Given the description of an element on the screen output the (x, y) to click on. 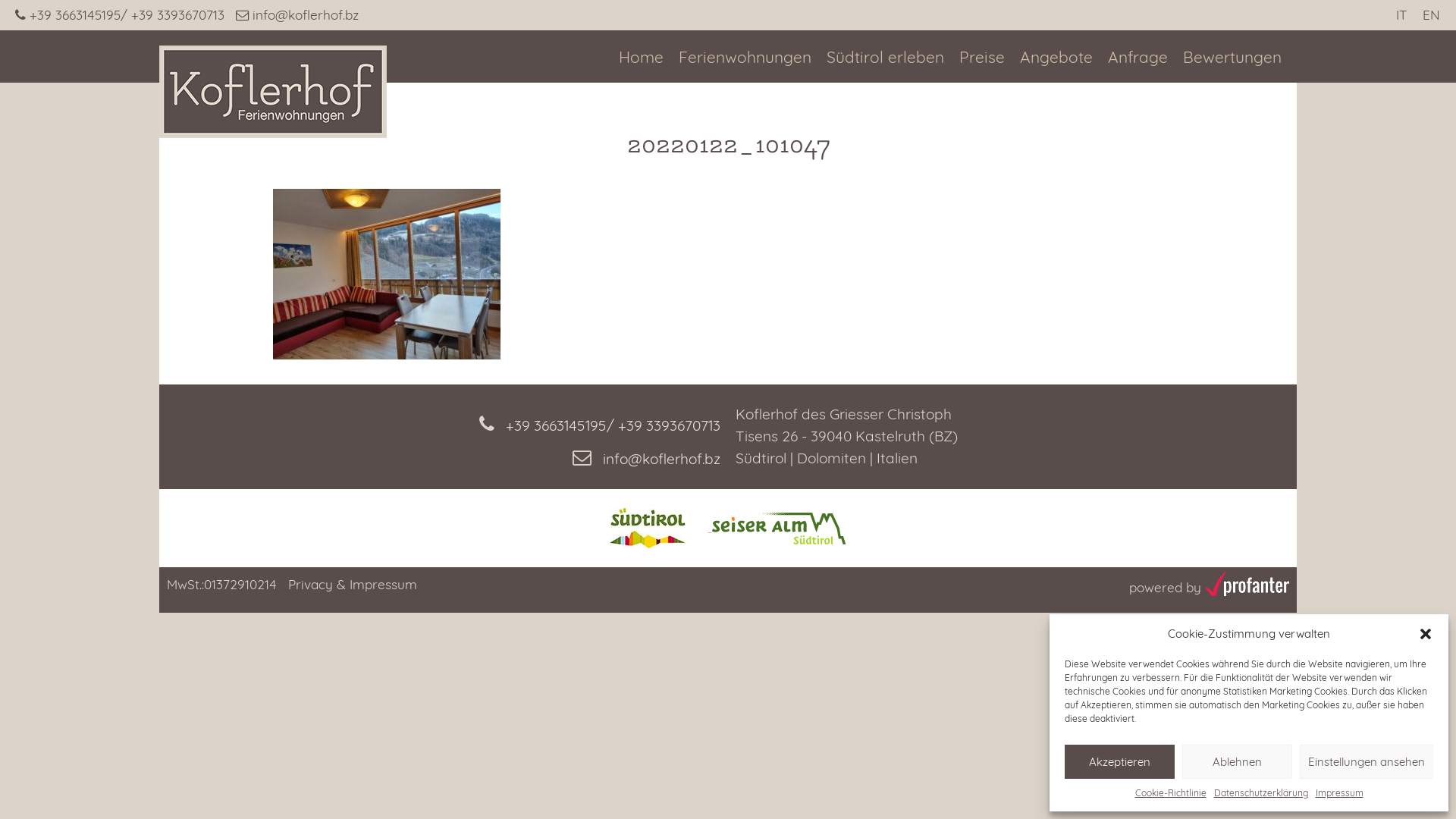
+39 3663145195/ +39 3393670713 Element type: text (439, 419)
+39 3663145195/ +39 3393670713 Element type: text (125, 14)
info@koflerhof.bz Element type: text (439, 453)
Akzeptieren Element type: text (1119, 761)
Ferienwohnungen Element type: text (744, 57)
Anfrage Element type: text (1137, 57)
Home Element type: text (640, 57)
Bewertungen Element type: text (1232, 57)
Einstellungen ansehen Element type: text (1366, 761)
info@koflerhof.bz Element type: text (296, 14)
Cookie-Richtlinie Element type: text (1169, 793)
IT Element type: text (1400, 15)
Angebote Element type: text (1055, 57)
Privacy & Impressum Element type: text (352, 584)
EN Element type: text (1431, 15)
Preise Element type: text (981, 57)
Impressum Element type: text (1338, 793)
Ablehnen Element type: text (1237, 761)
